Given the description of an element on the screen output the (x, y) to click on. 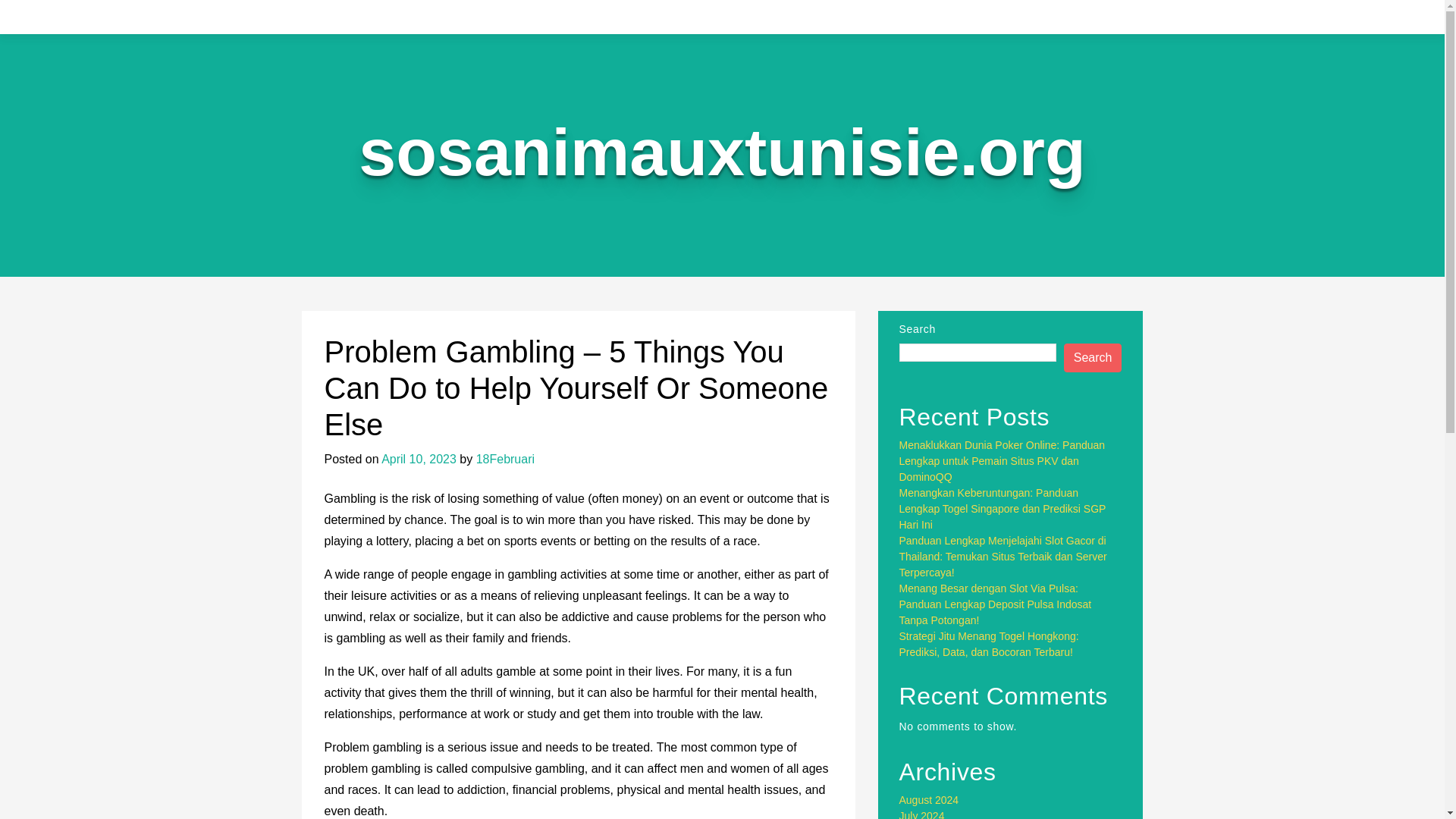
July 2024 (921, 814)
Search (1093, 357)
April 10, 2023 (419, 459)
18Februari (505, 459)
August 2024 (929, 799)
